Given the description of an element on the screen output the (x, y) to click on. 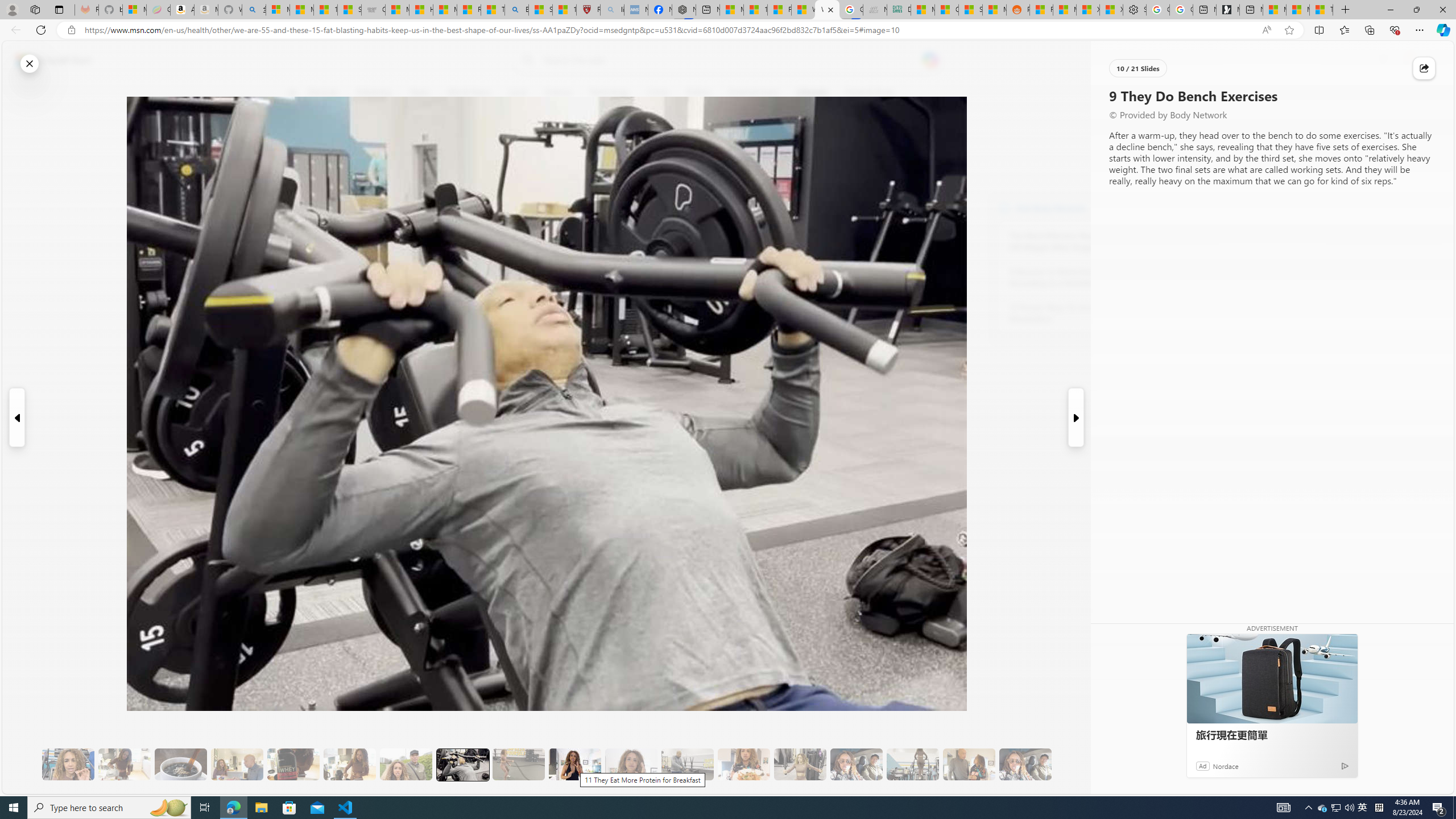
Body Network (449, 147)
These 3 Stocks Pay You More Than 5% to Own Them (1321, 9)
Class: at-item (299, 266)
Go to publisher's site (830, 146)
